Given the description of an element on the screen output the (x, y) to click on. 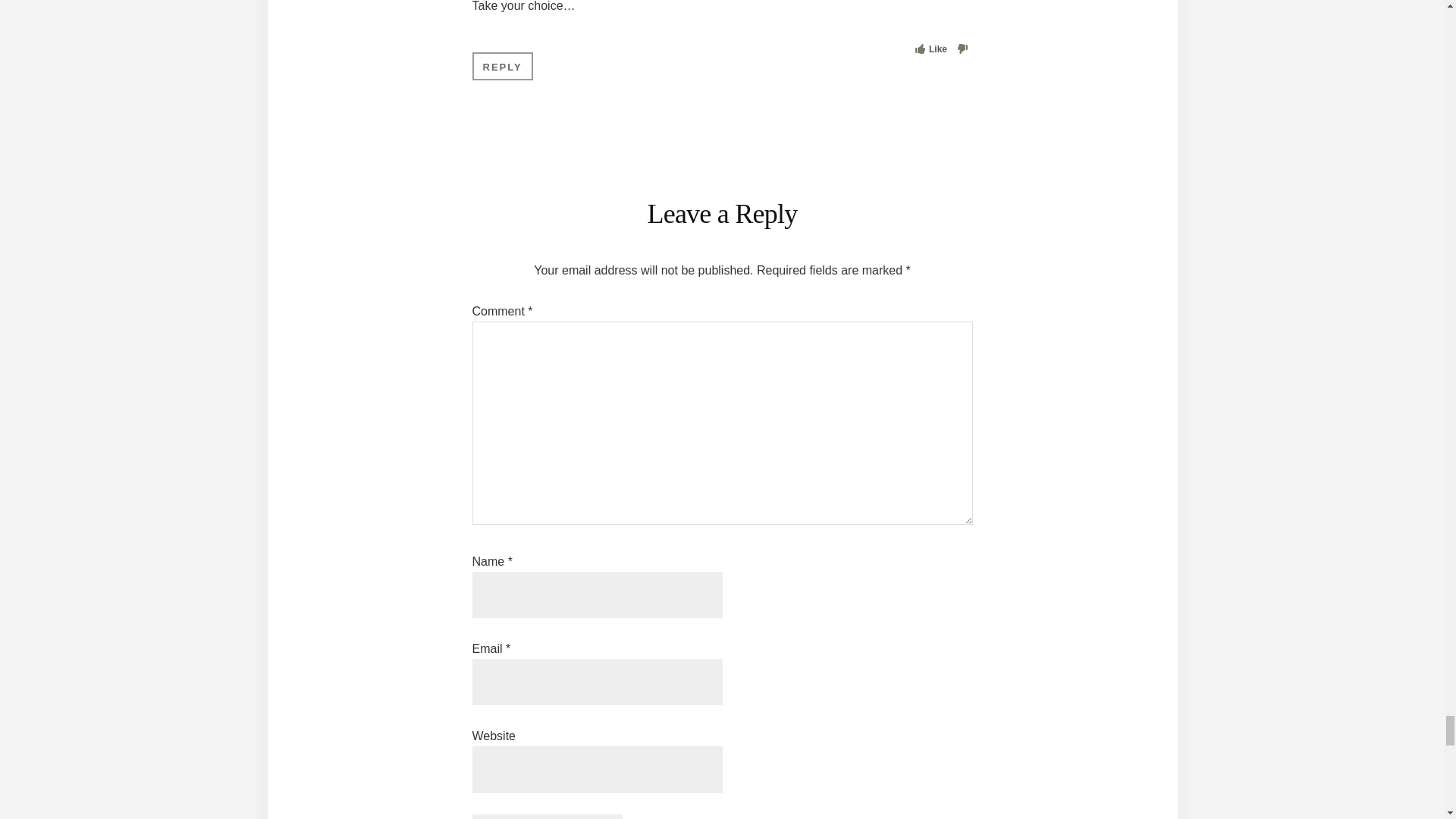
Post Comment (546, 816)
